Given the description of an element on the screen output the (x, y) to click on. 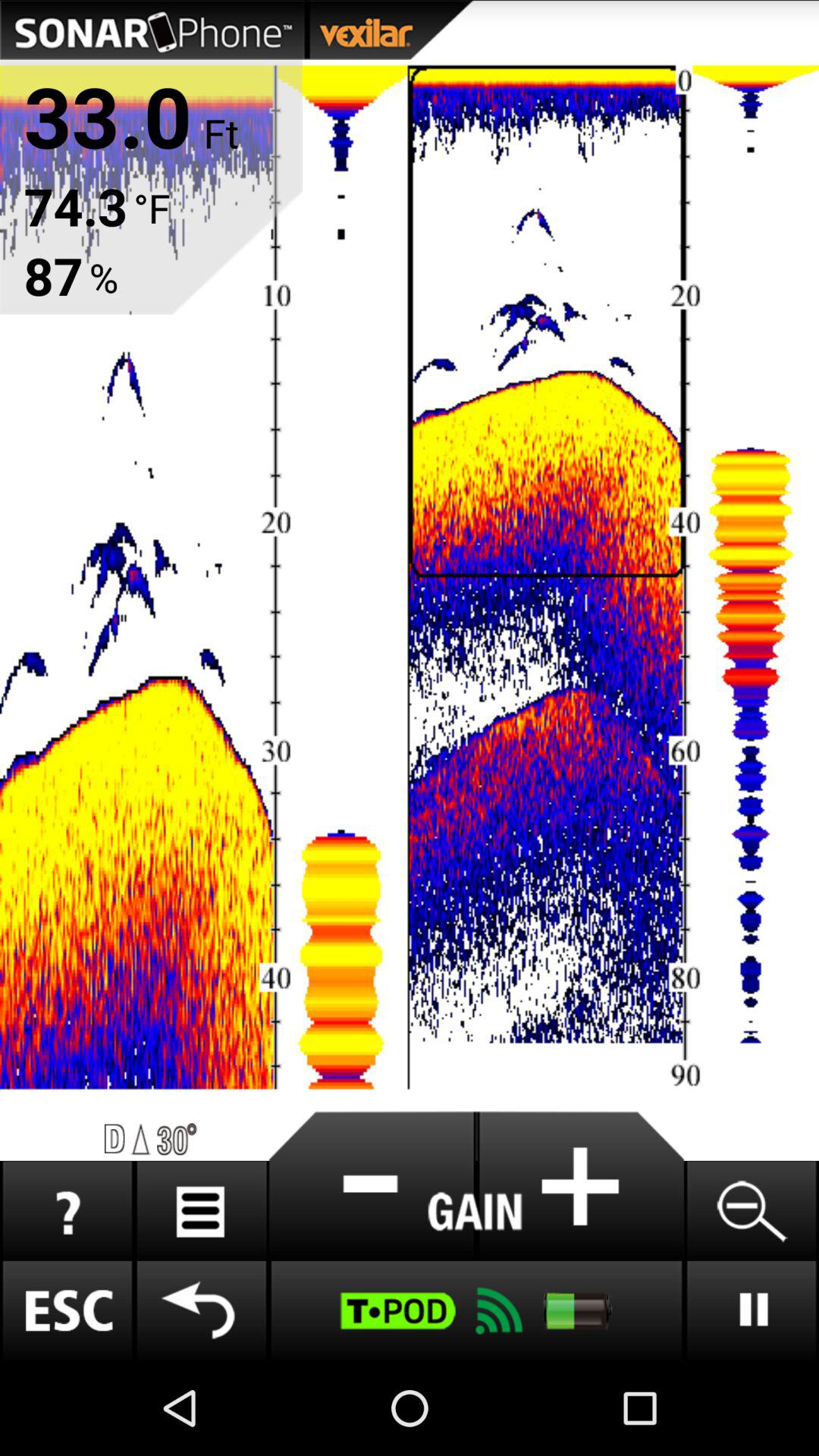
go to previous (201, 1310)
